Given the description of an element on the screen output the (x, y) to click on. 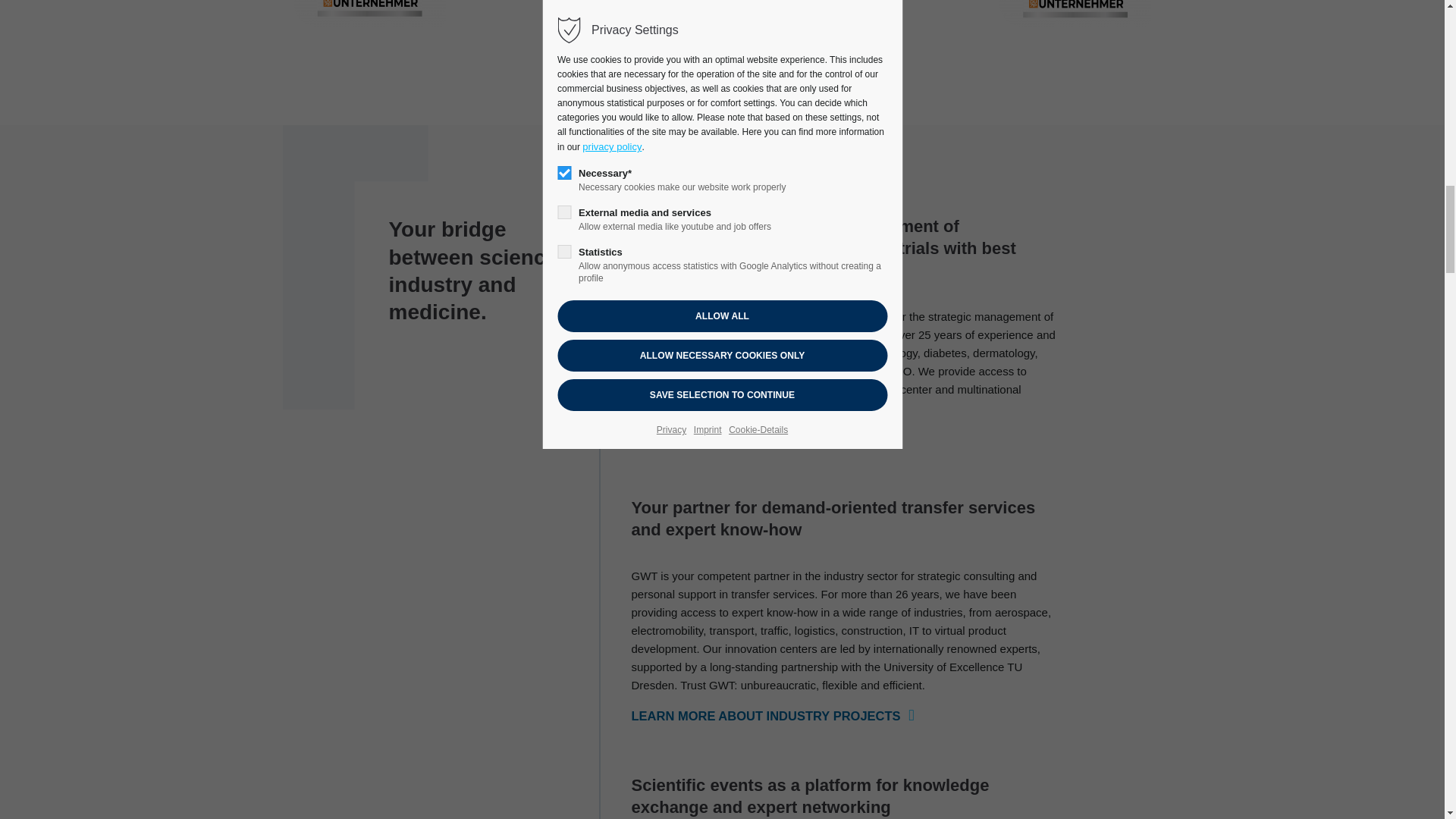
Seal Employer of the Future (369, 13)
LEARN MORE ABOUT INDUSTRY PROJECTS (772, 715)
Seal ISO Quality Management (839, 2)
Seal Top Service German Innovation Institute (1074, 13)
Seal ISO Risk Management (605, 2)
LEARN MORE ABOUT CLINICAL TRIALS (758, 438)
